Given the description of an element on the screen output the (x, y) to click on. 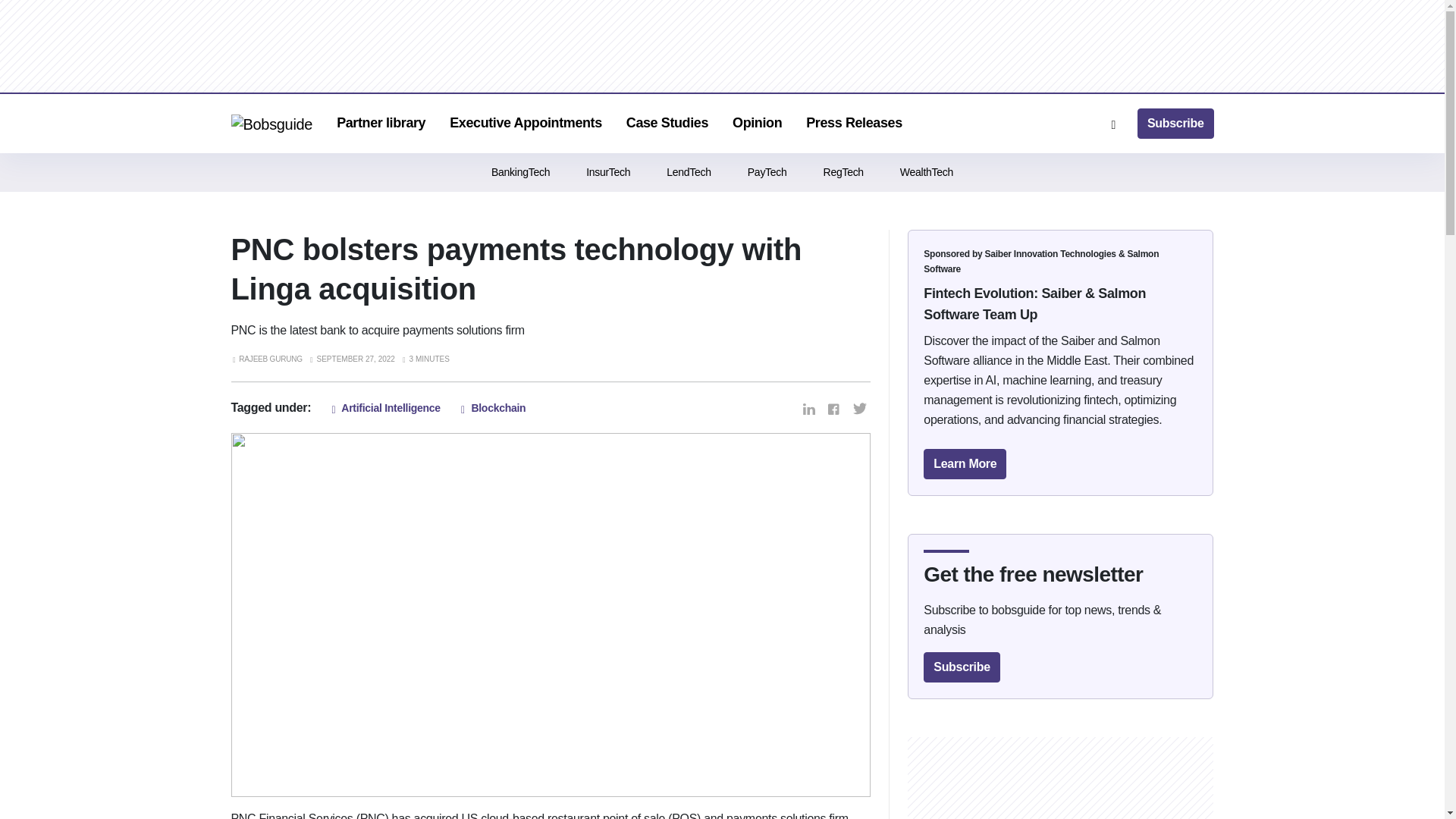
Opinion (756, 123)
Subscribe (1174, 123)
Case Studies (667, 123)
LendTech (688, 172)
BankingTech (520, 172)
InsurTech (607, 172)
Partner library (380, 123)
Press Releases (853, 123)
Executive Appointments (526, 123)
